Given the description of an element on the screen output the (x, y) to click on. 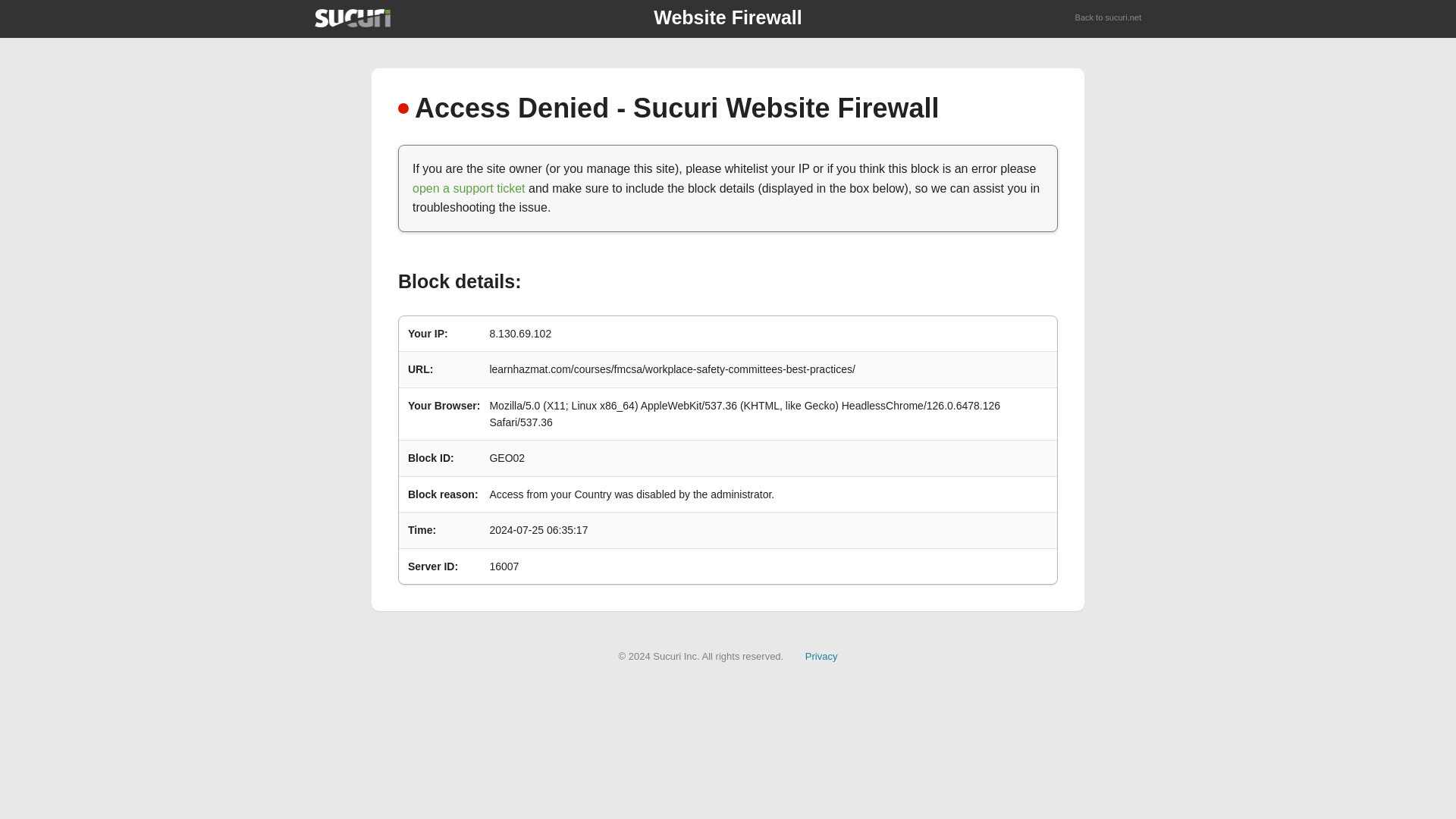
open a support ticket (468, 187)
Privacy (821, 655)
Back to sucuri.net (1108, 18)
